Given the description of an element on the screen output the (x, y) to click on. 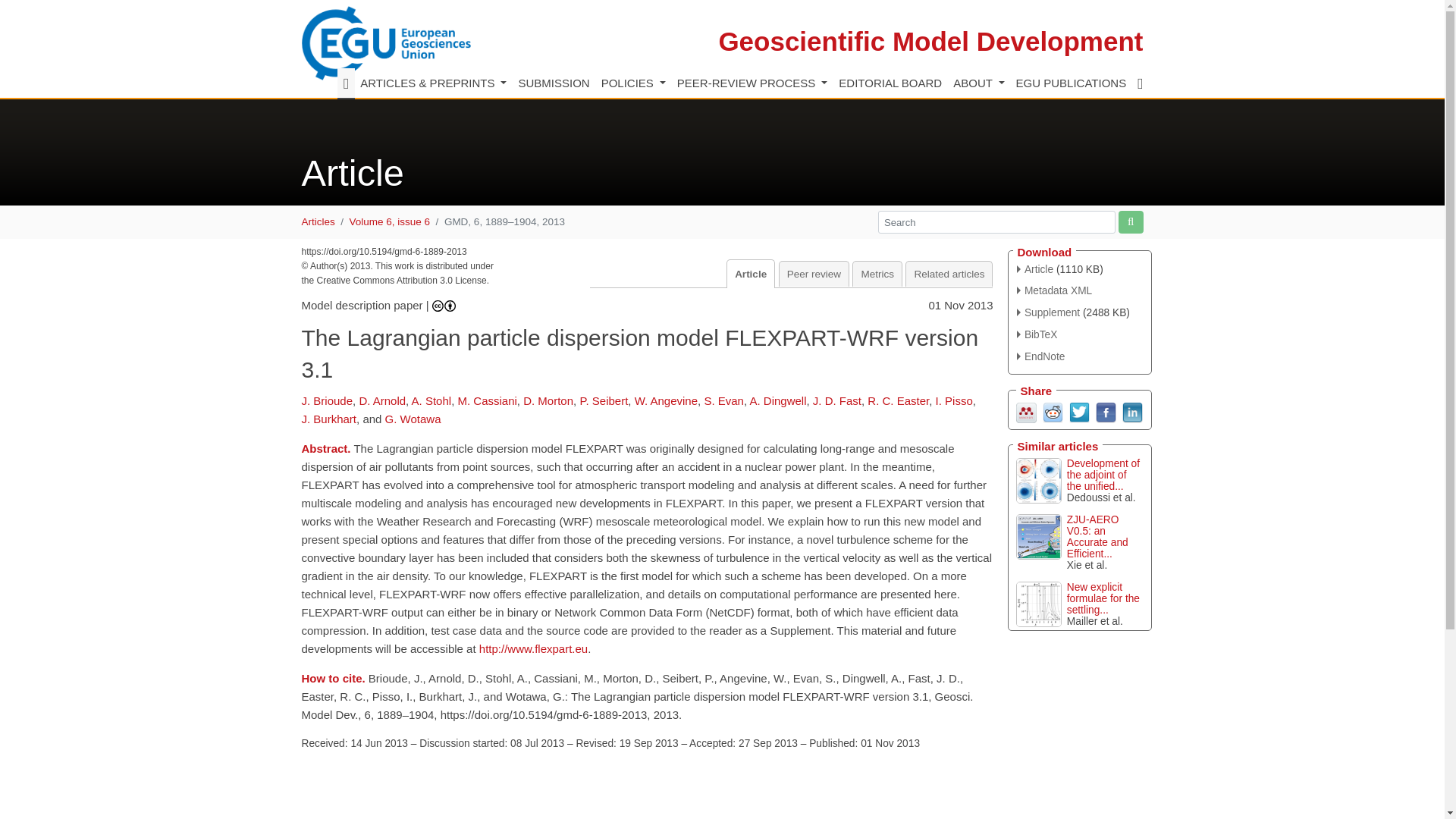
Reddit (1052, 410)
Mendeley (1026, 410)
SUBMISSION (553, 83)
POLICIES (633, 83)
Geoscientific Model Development (929, 41)
Twitter (1078, 410)
PEER-REVIEW PROCESS (751, 83)
XML Version (1054, 290)
Start site search (1130, 221)
